Given the description of an element on the screen output the (x, y) to click on. 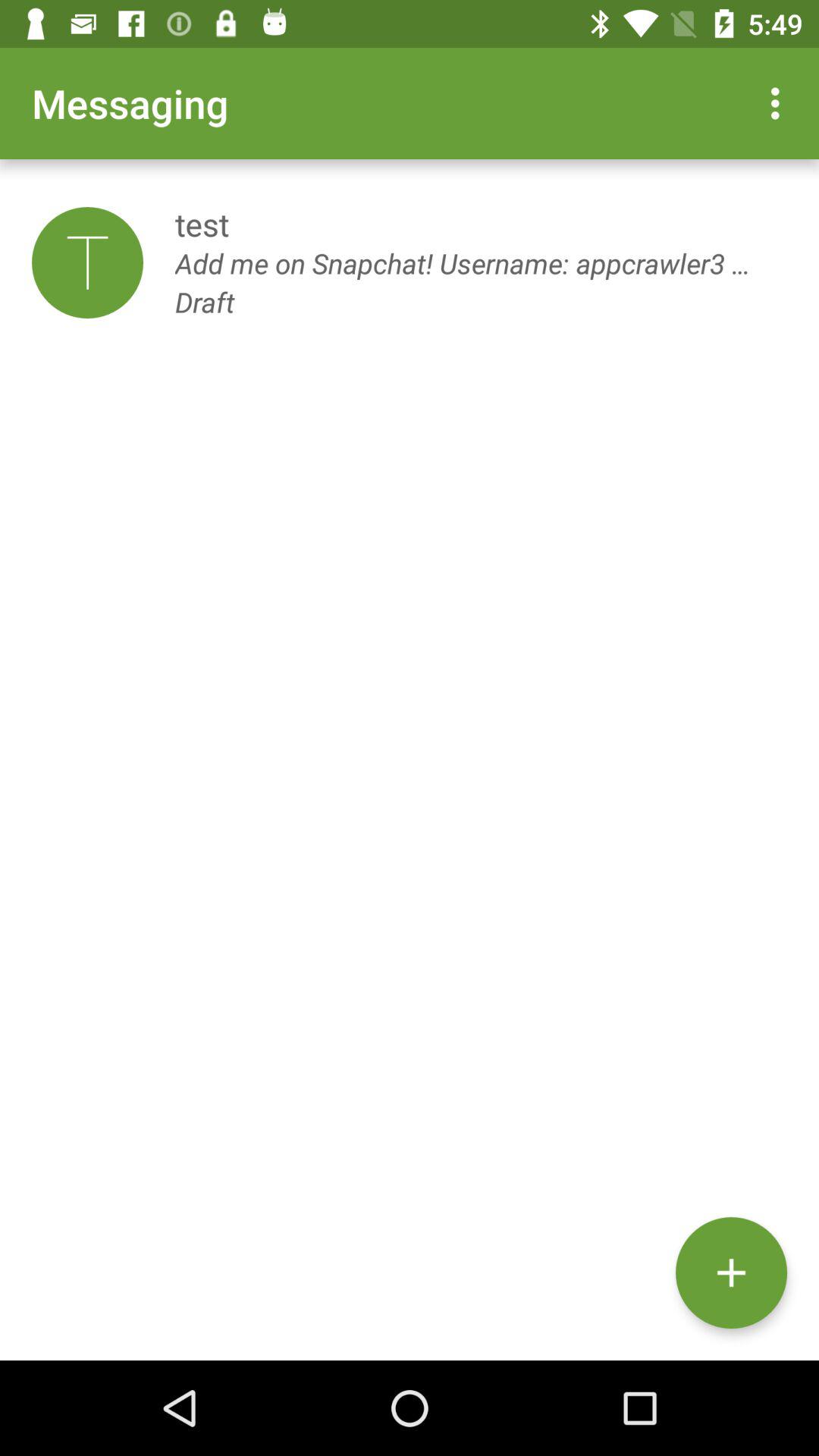
turn on item below the add me on (731, 1272)
